Given the description of an element on the screen output the (x, y) to click on. 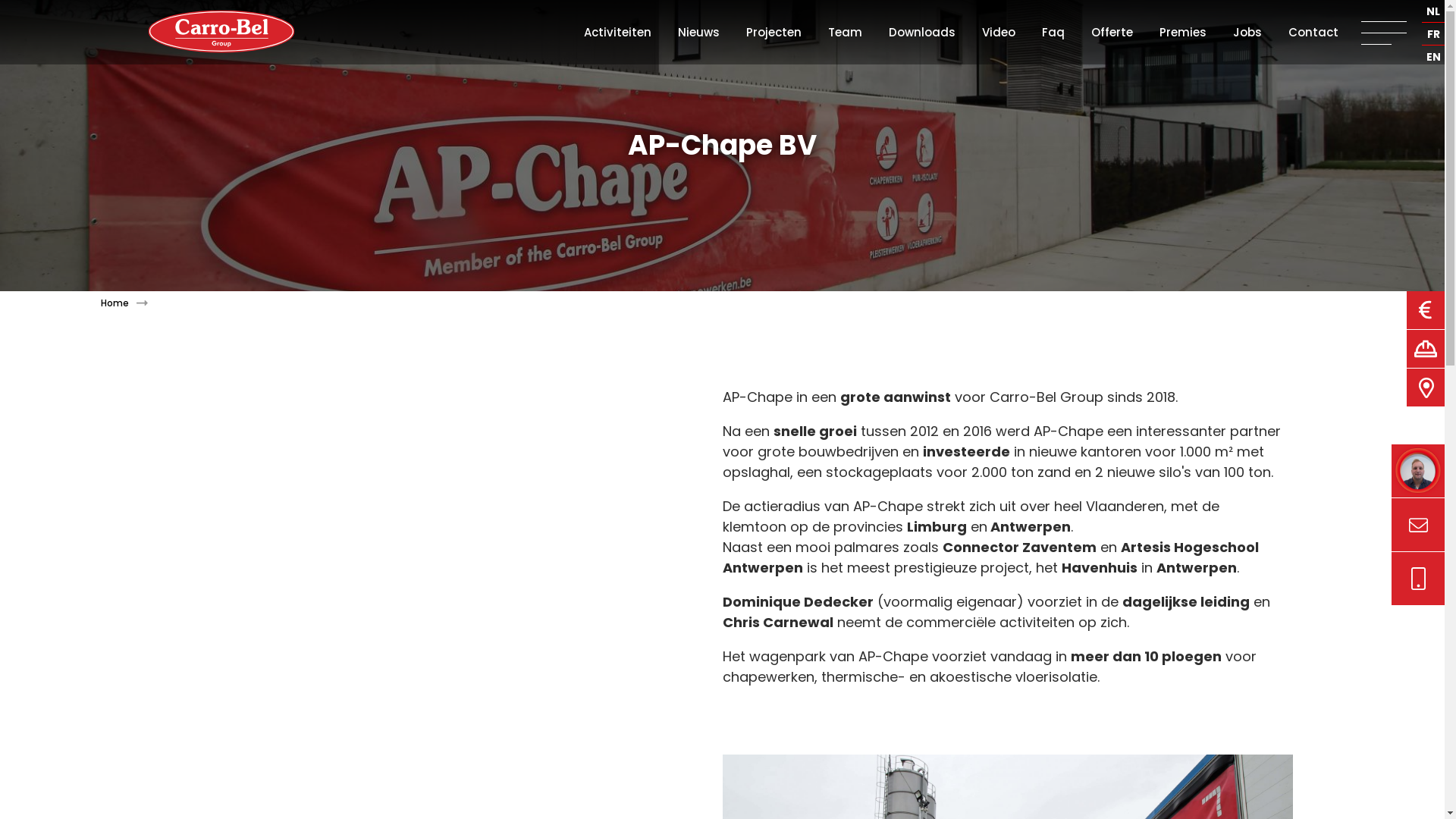
Activiteiten Element type: text (617, 32)
Offerte Element type: text (1111, 32)
NL Element type: text (1432, 11)
Projecten Element type: text (773, 32)
Faq Element type: text (1052, 32)
mail Element type: text (1417, 578)
Video Element type: text (998, 32)
Overslaan en naar de inhoud gaan Element type: text (117, 0)
FR Element type: text (1432, 34)
Contact Element type: text (1313, 32)
mail Element type: text (1417, 524)
Home Element type: text (129, 302)
Team Element type: text (845, 32)
Downloads Element type: text (921, 32)
Premies Element type: text (1182, 32)
Nieuws Element type: text (698, 32)
EN Element type: text (1432, 57)
Jobs Element type: text (1247, 32)
